Given the description of an element on the screen output the (x, y) to click on. 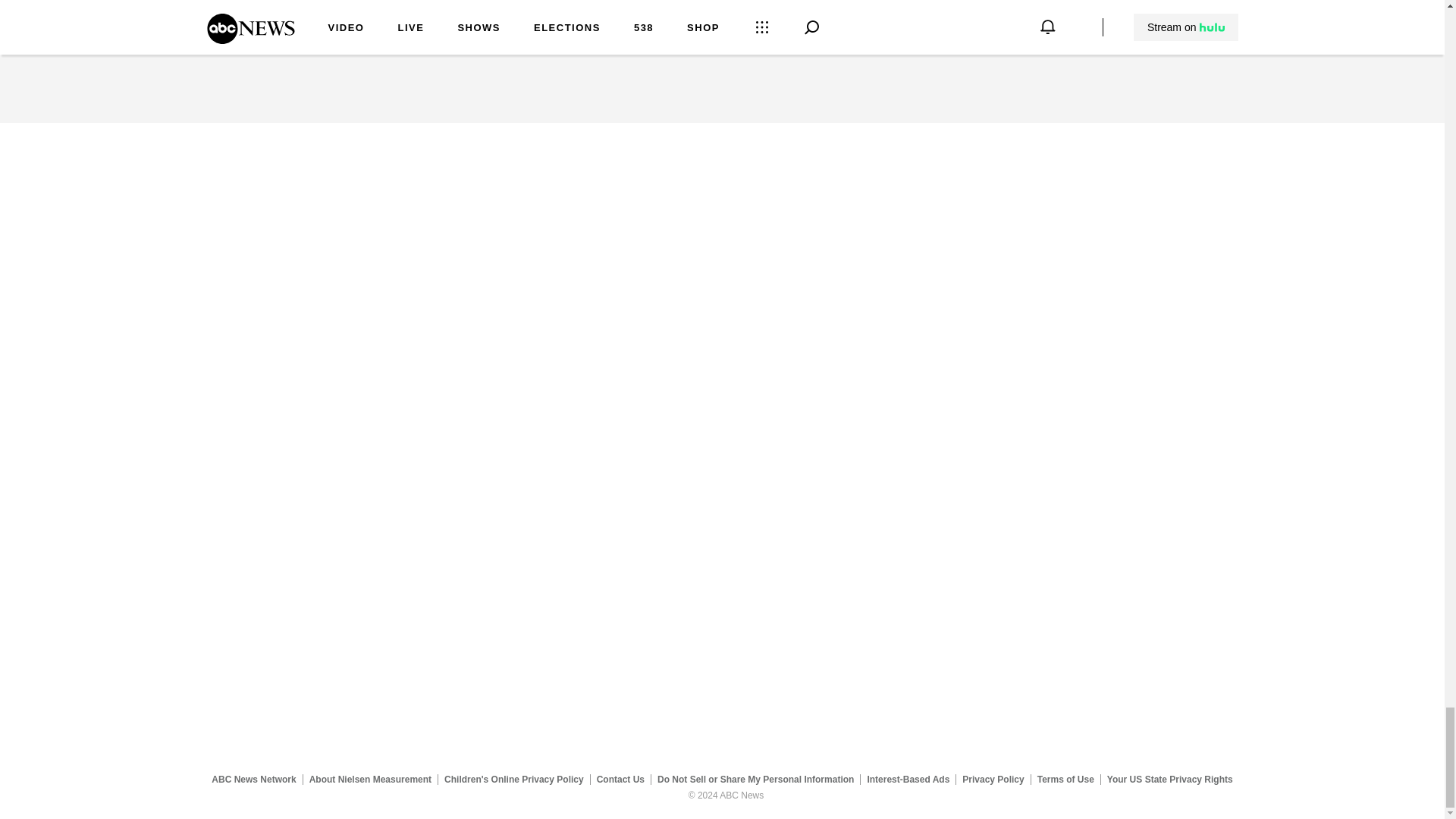
About Nielsen Measurement (370, 778)
Terms of Use (1065, 778)
Do Not Sell or Share My Personal Information (755, 778)
Children's Online Privacy Policy (514, 778)
Your US State Privacy Rights (1169, 778)
Contact Us (620, 778)
Interest-Based Ads (908, 778)
Privacy Policy (993, 778)
ABC News Network (253, 778)
